Given the description of an element on the screen output the (x, y) to click on. 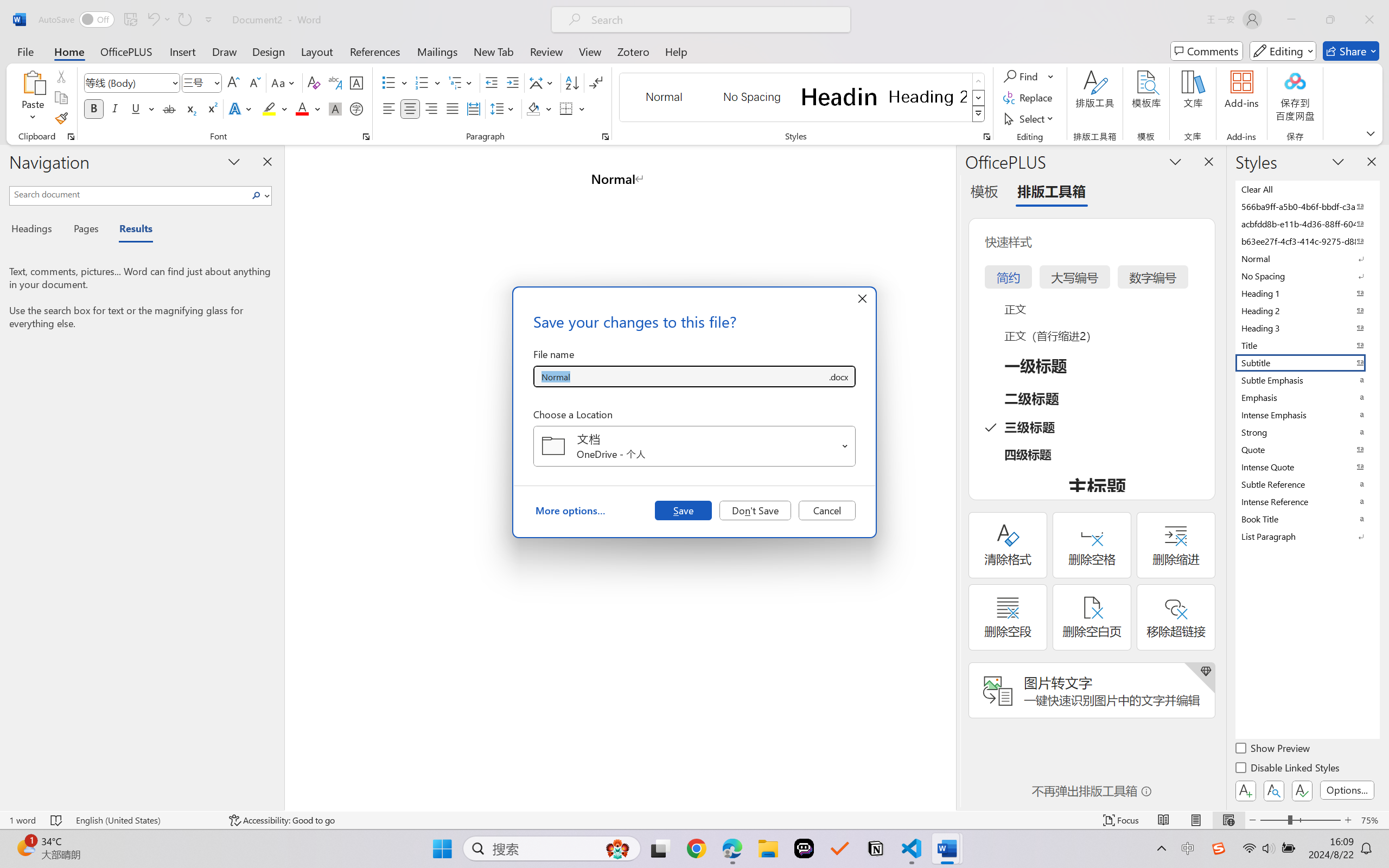
Subtle Reference (1306, 484)
Customize Quick Access Toolbar (208, 19)
Align Left (388, 108)
Heading 3 (1306, 327)
Paragraph... (605, 136)
Font... (365, 136)
Class: NetUIButton (1301, 790)
Superscript (210, 108)
Paste (33, 81)
Close (1369, 19)
Character Shading (334, 108)
